Given the description of an element on the screen output the (x, y) to click on. 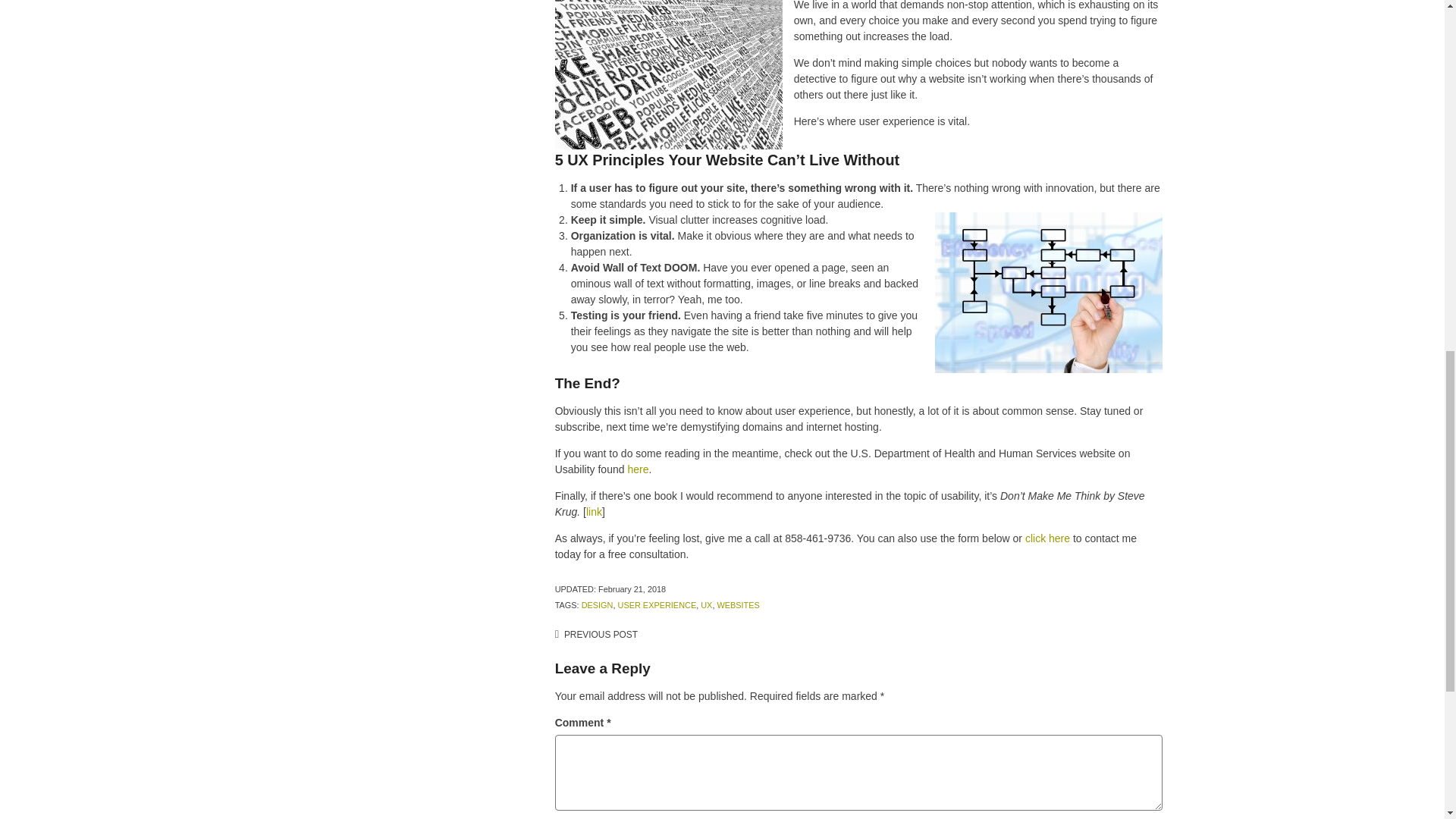
USER EXPERIENCE (657, 604)
PREVIOUS POST (595, 634)
DESIGN (596, 604)
here (637, 469)
February 21, 2018 (631, 588)
 click here  (1047, 538)
WEBSITES (737, 604)
UX (705, 604)
link (594, 511)
